Given the description of an element on the screen output the (x, y) to click on. 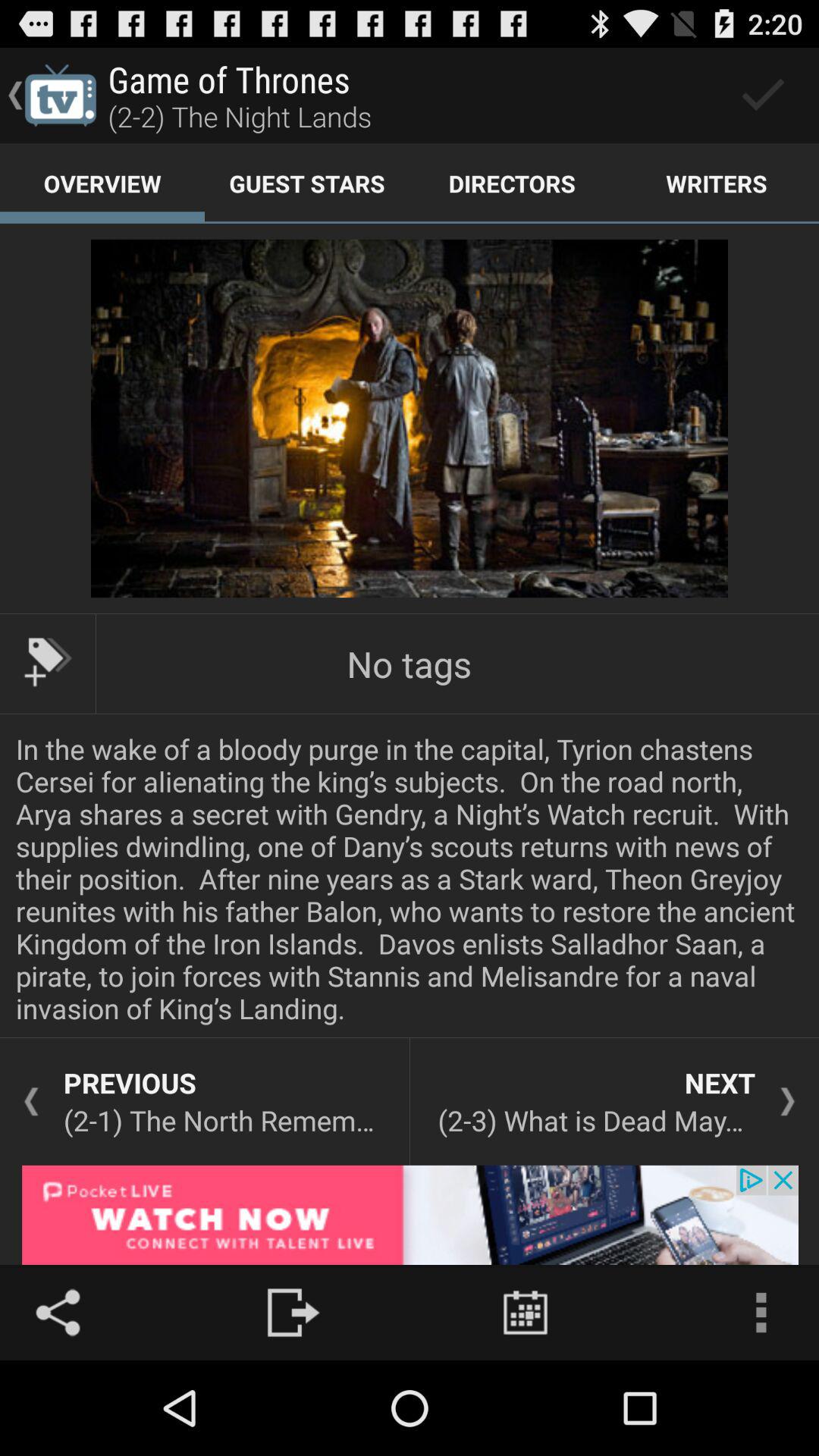
save option (763, 95)
